Given the description of an element on the screen output the (x, y) to click on. 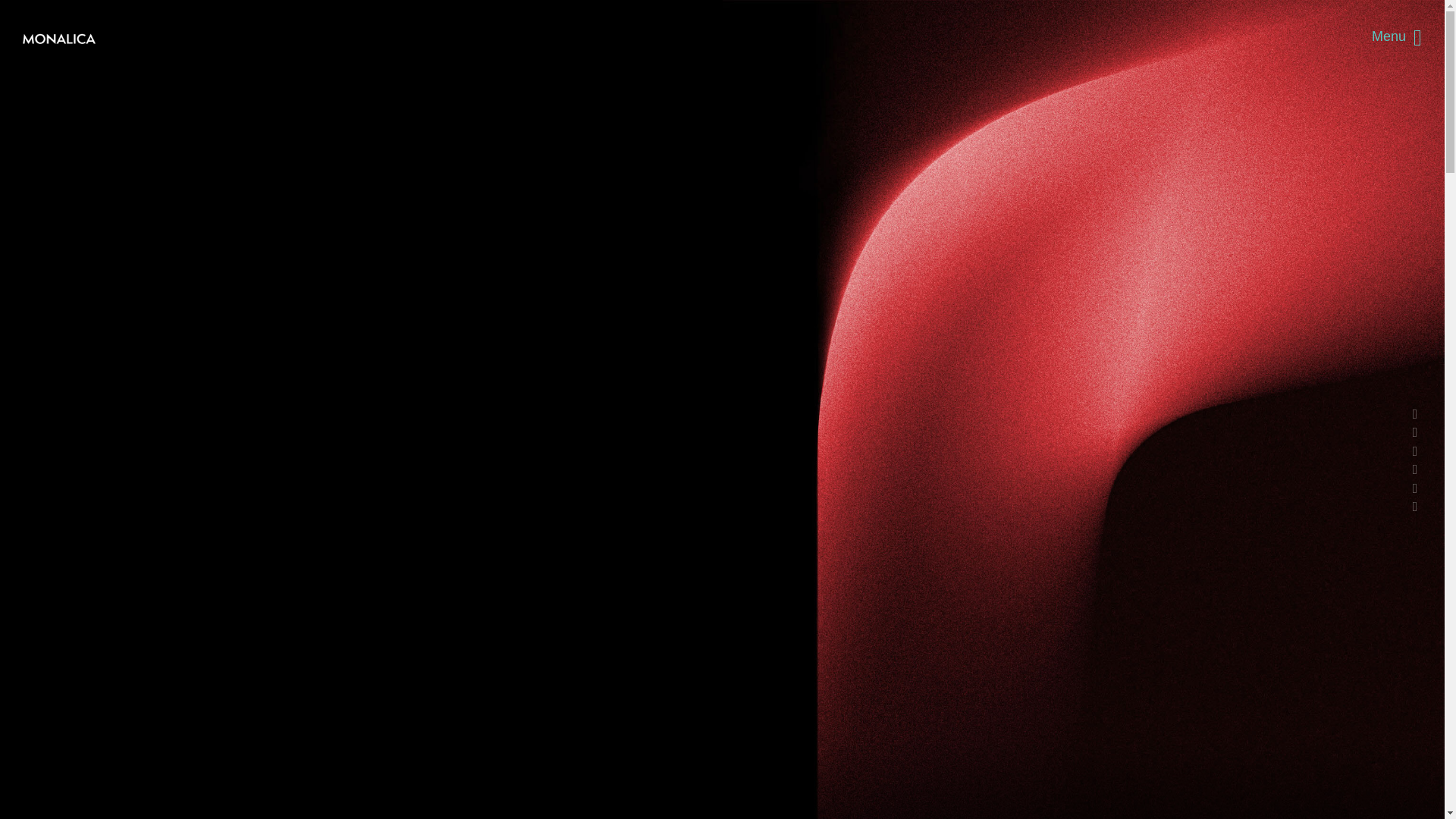
Menu (1396, 37)
